Given the description of an element on the screen output the (x, y) to click on. 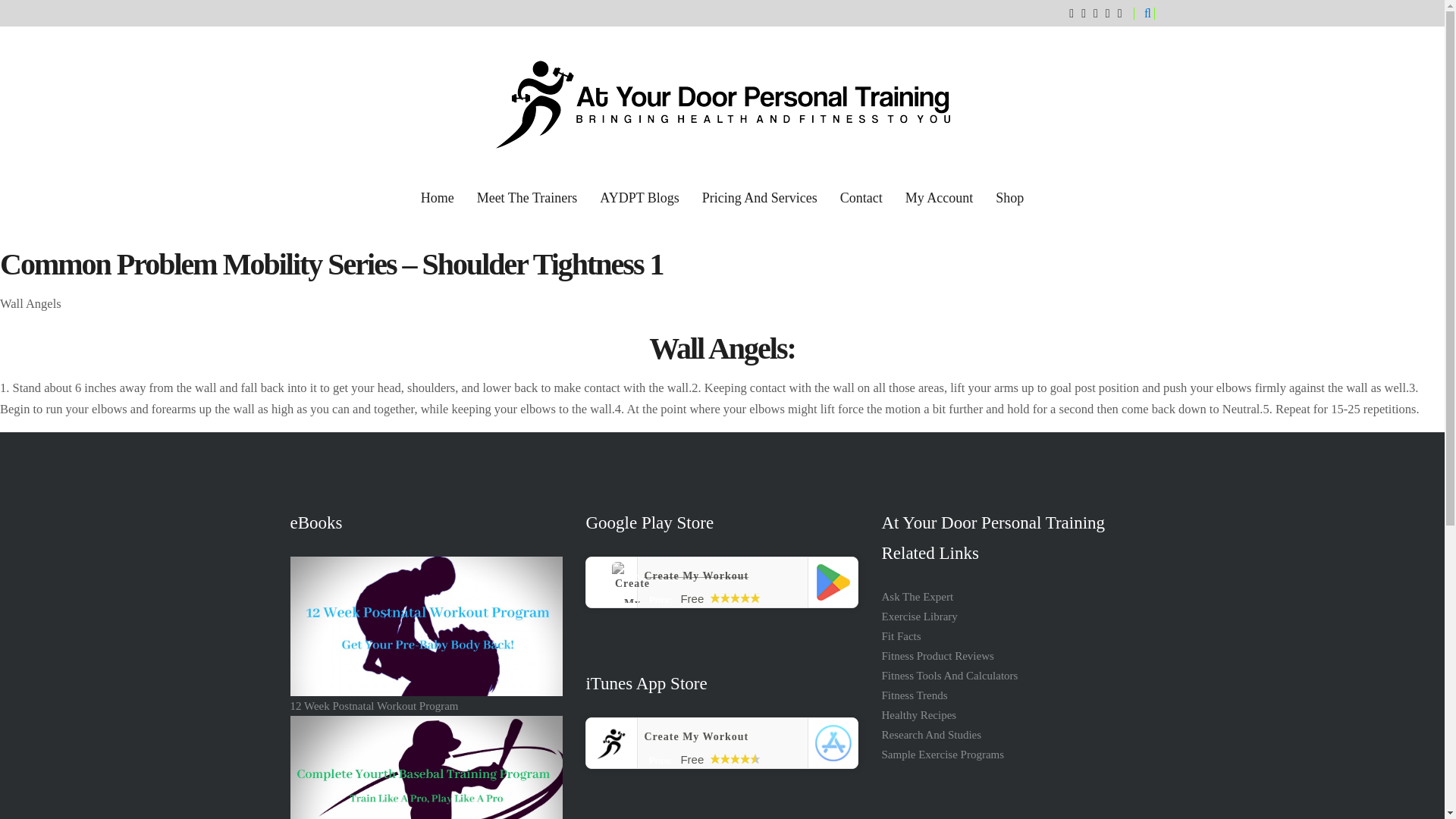
Pricing And Services (758, 197)
Muscle Specific Exercise Programs (942, 754)
4.5 of 5 stars (735, 758)
AYDPT Blogs (639, 197)
Latest Exercise Research And Studies Sponsored By ACE (930, 734)
Fitness Tools And Calculators For Your Use (948, 675)
Top Fitness Trends (913, 695)
Top Rated Healthy Recipes (918, 715)
